Given the description of an element on the screen output the (x, y) to click on. 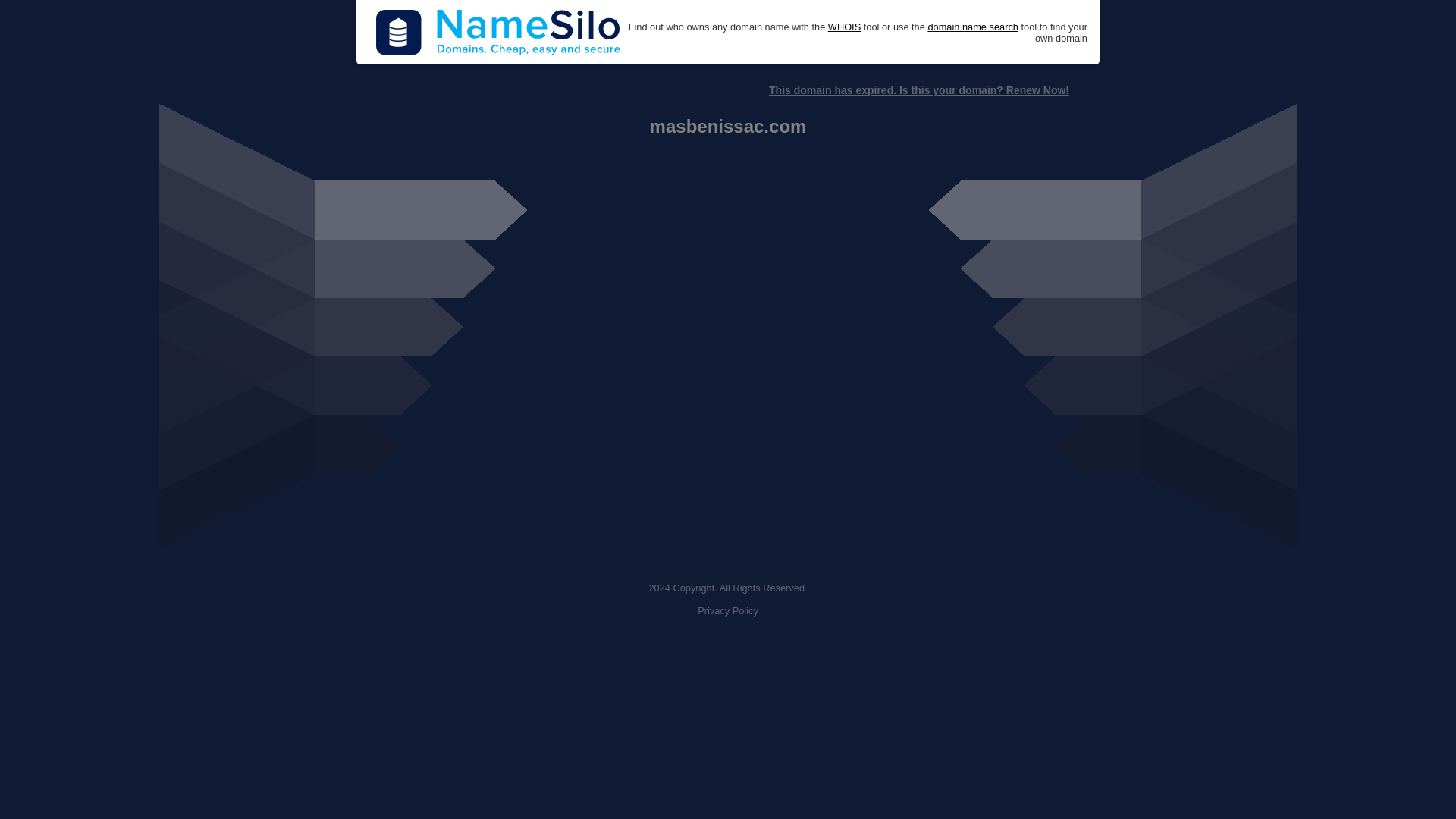
This domain has expired. Is this your domain? Renew Now! (918, 90)
WHOIS (844, 26)
domain name search (972, 26)
Privacy Policy (727, 610)
